Given the description of an element on the screen output the (x, y) to click on. 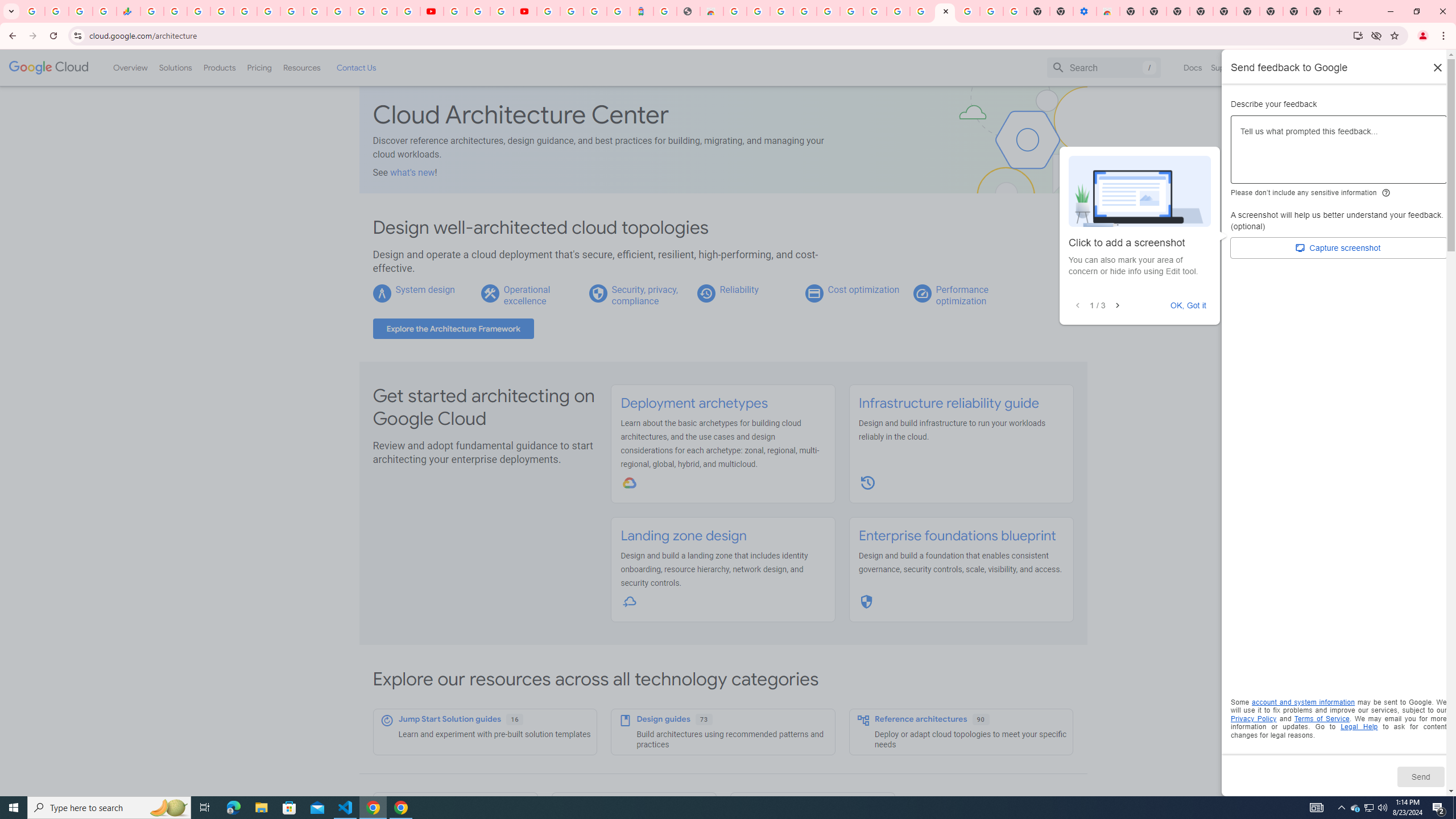
Performance optimization (962, 295)
New Tab (1318, 11)
Explore the Architecture Framework (453, 328)
Resources (301, 67)
Settings - Accessibility (1085, 11)
Opens in a new tab. Legal Help (1358, 727)
Google Account Help (850, 11)
